Given the description of an element on the screen output the (x, y) to click on. 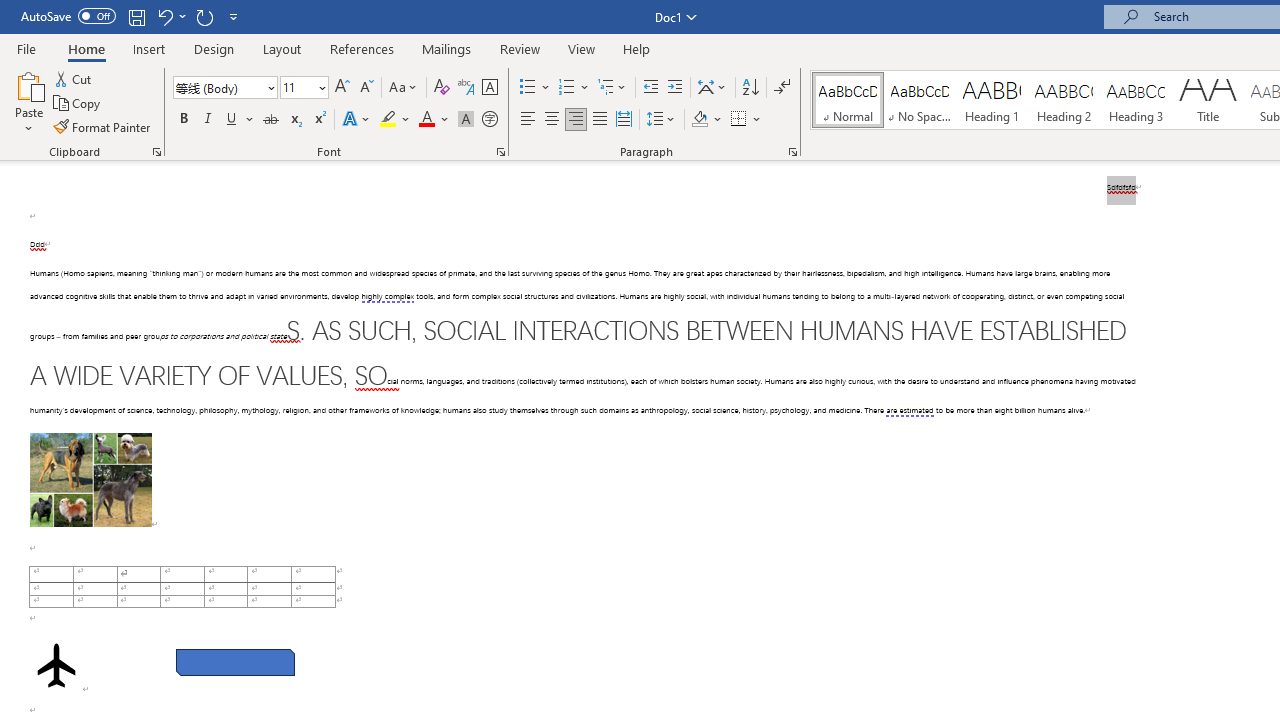
Heading 2 (1063, 100)
